Given the description of an element on the screen output the (x, y) to click on. 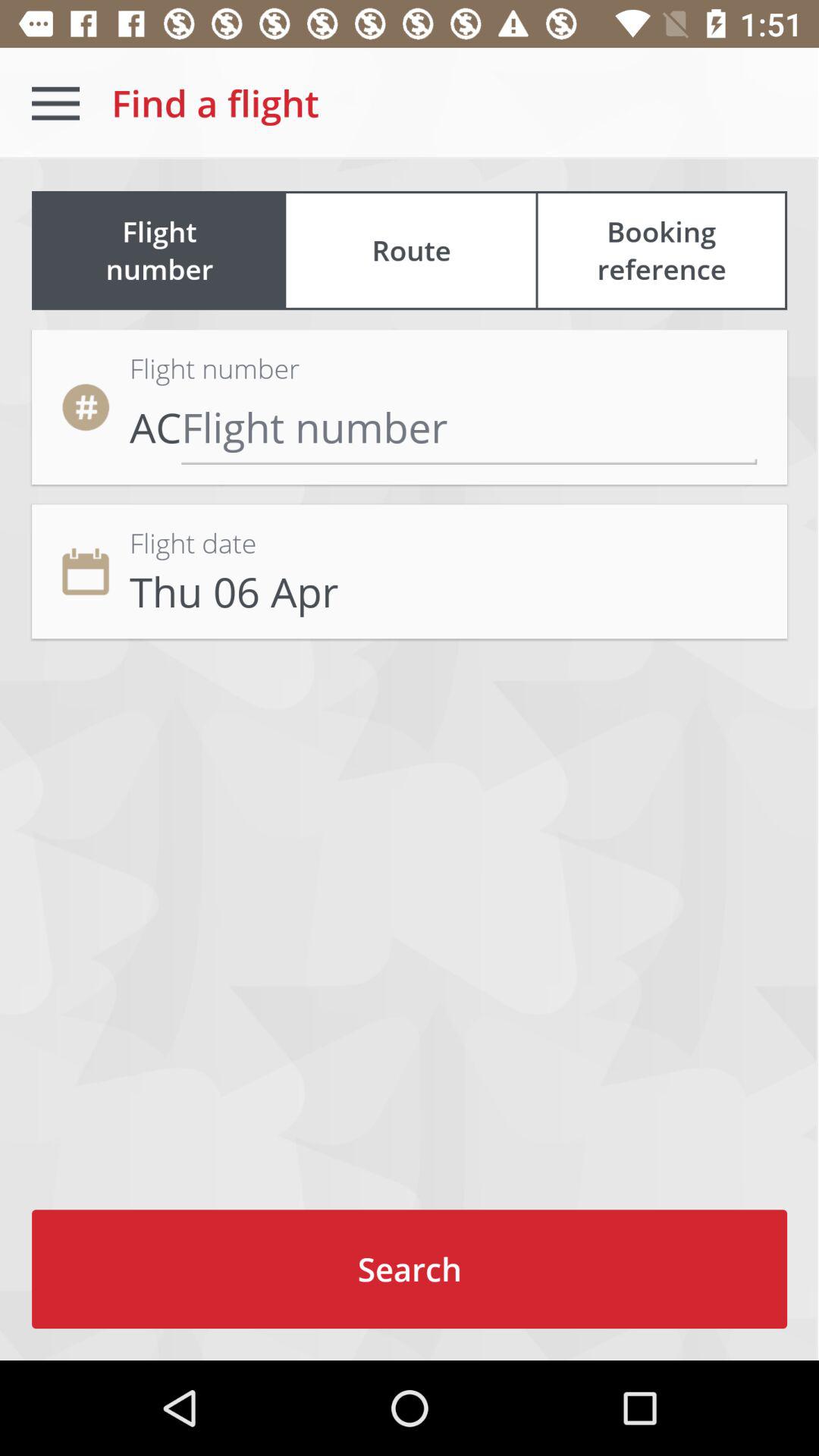
open the icon to the left of the find a flight (55, 103)
